Given the description of an element on the screen output the (x, y) to click on. 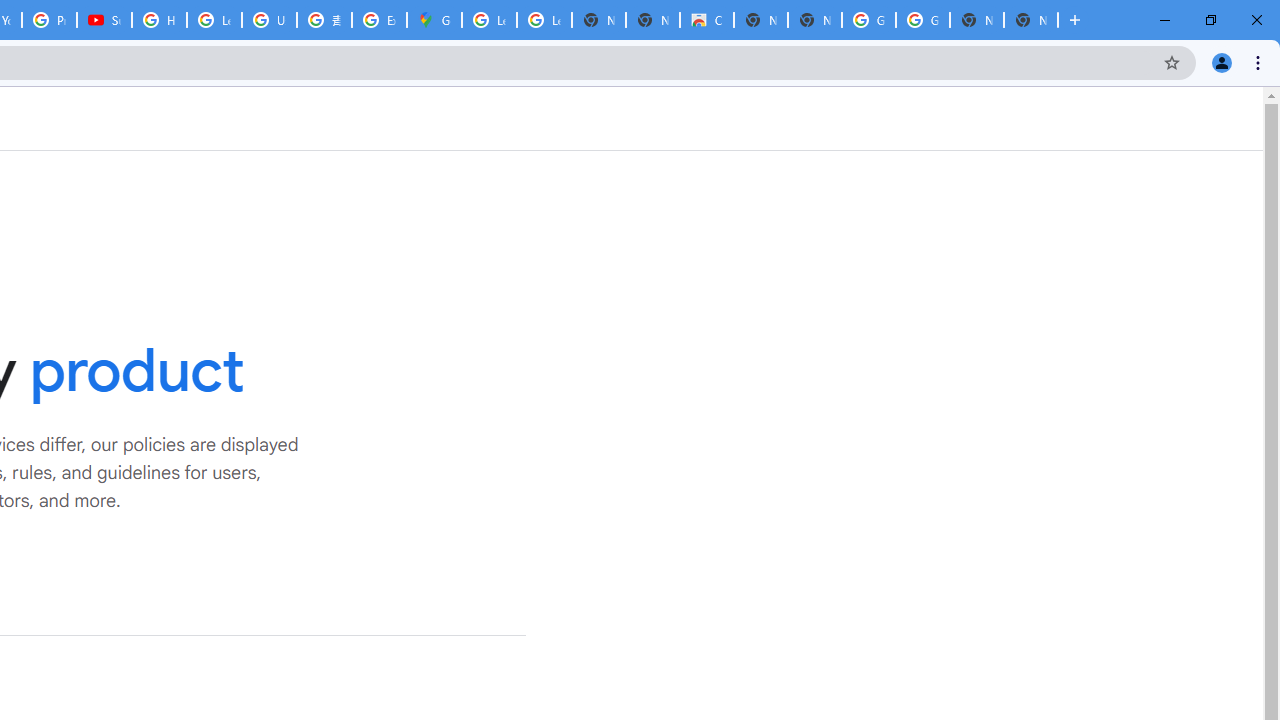
Explore new street-level details - Google Maps Help (379, 20)
